Given the description of an element on the screen output the (x, y) to click on. 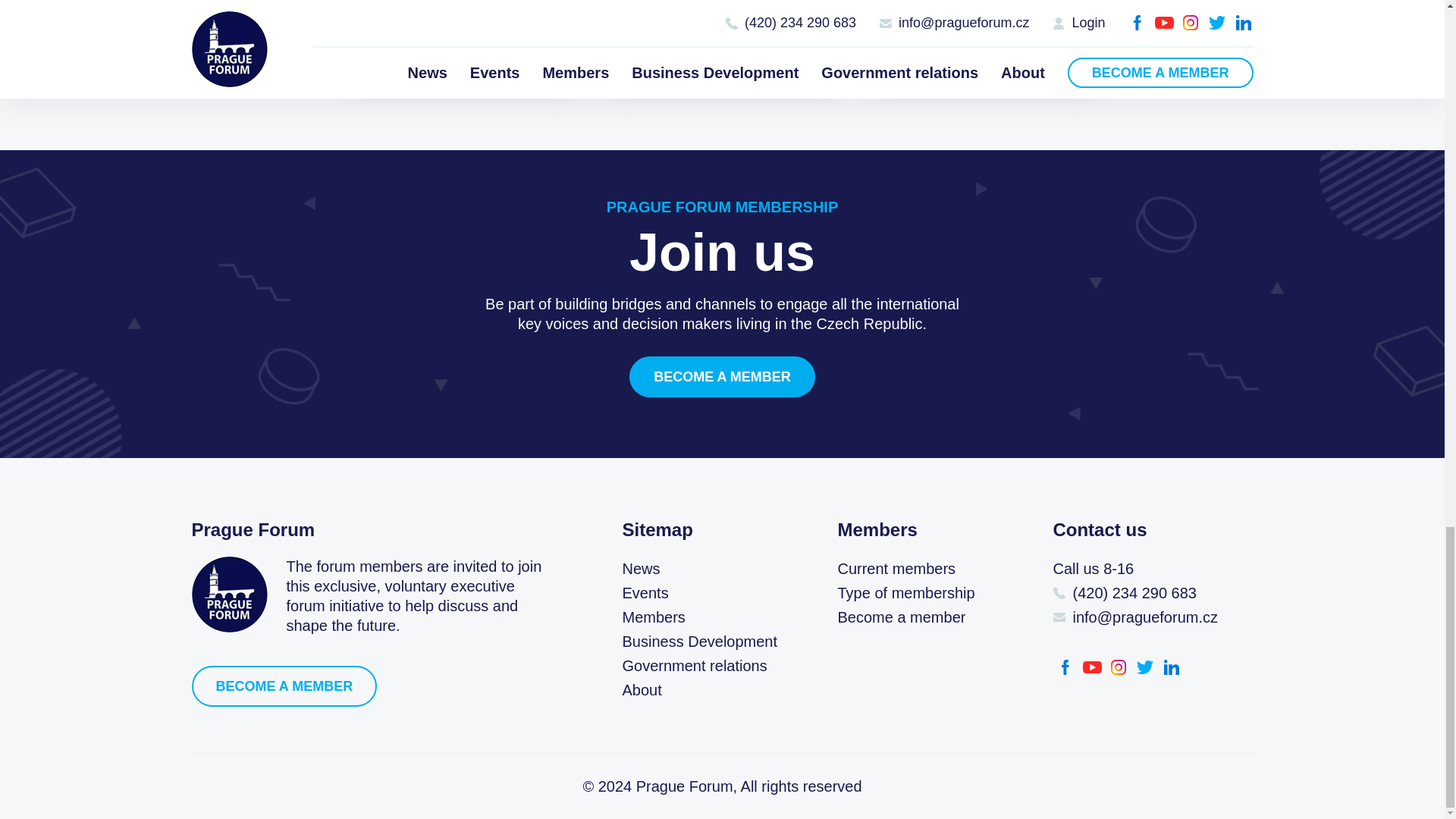
Call us 8-16 (1141, 568)
News (640, 568)
Government relations (694, 665)
Events (644, 592)
About (641, 689)
BECOME A MEMBER (283, 685)
Type of membership (905, 592)
BECOME A MEMBER (721, 376)
Current members (896, 568)
Members (652, 617)
